Given the description of an element on the screen output the (x, y) to click on. 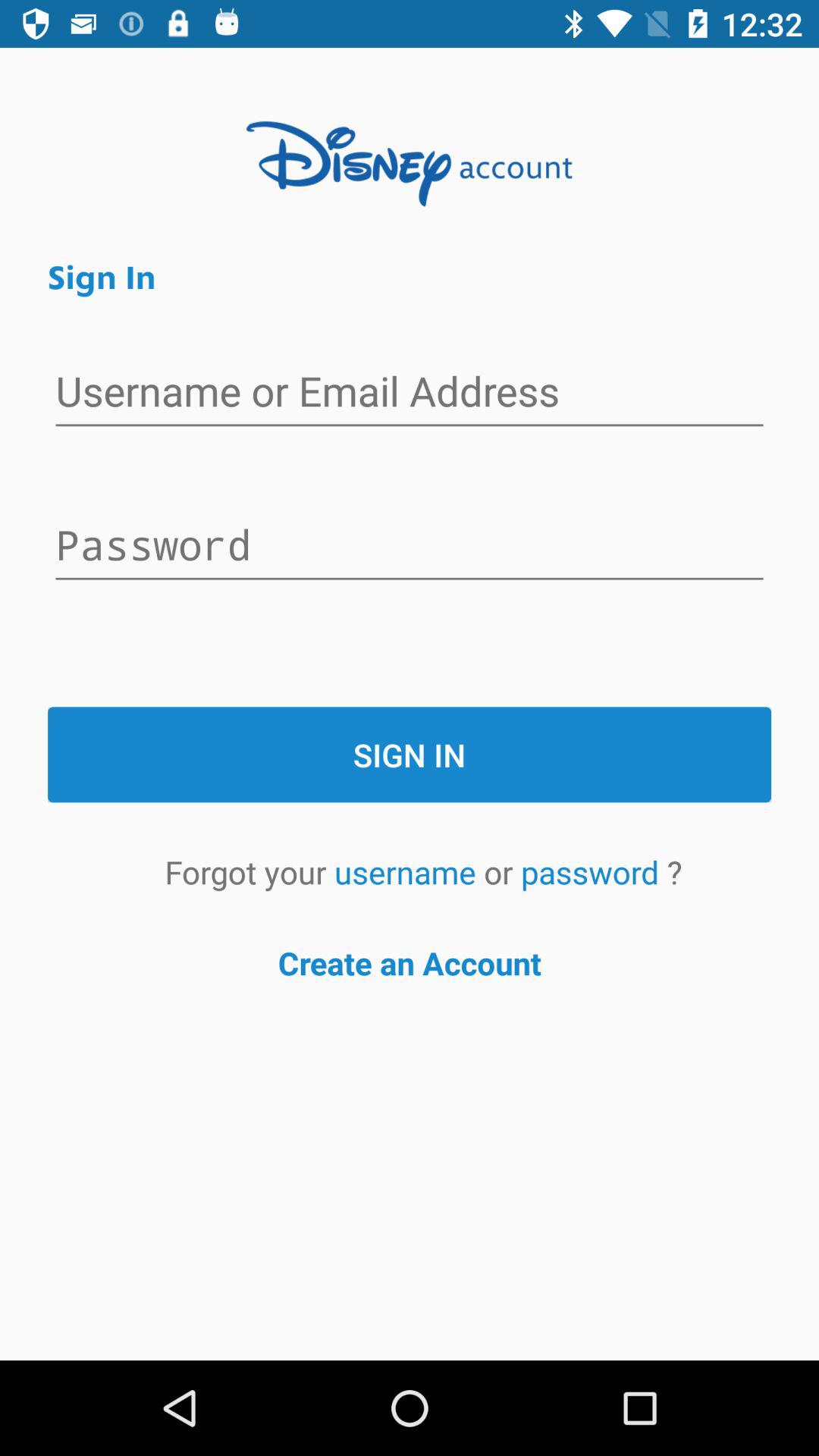
press the item above create an account icon (409, 871)
